Given the description of an element on the screen output the (x, y) to click on. 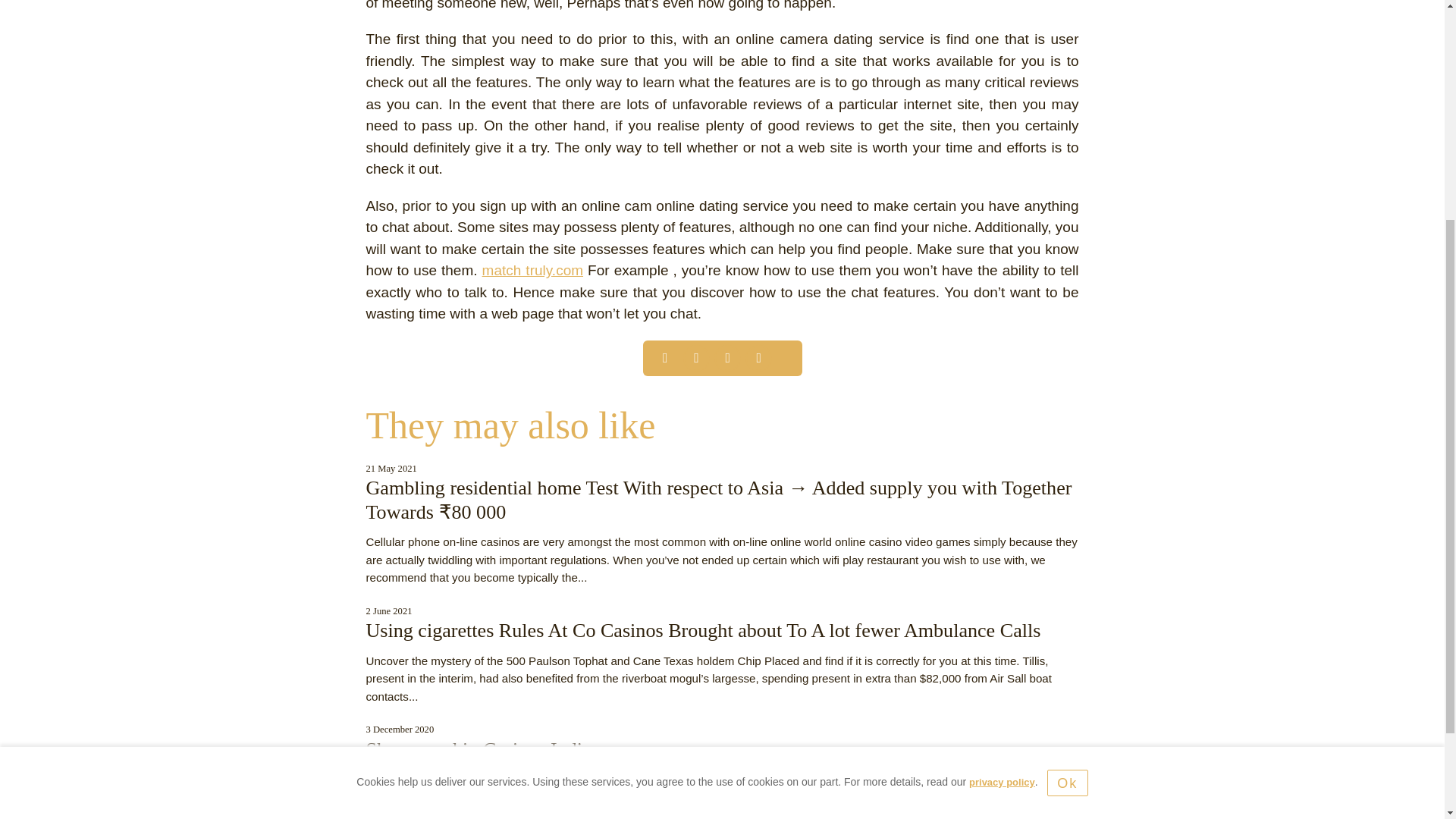
Ok (1066, 448)
match truly.com (532, 270)
privacy policy (1002, 448)
Showmanship Casinos Indiana (487, 749)
Showmanship Casinos Indiana (487, 749)
Ok (1066, 448)
